Given the description of an element on the screen output the (x, y) to click on. 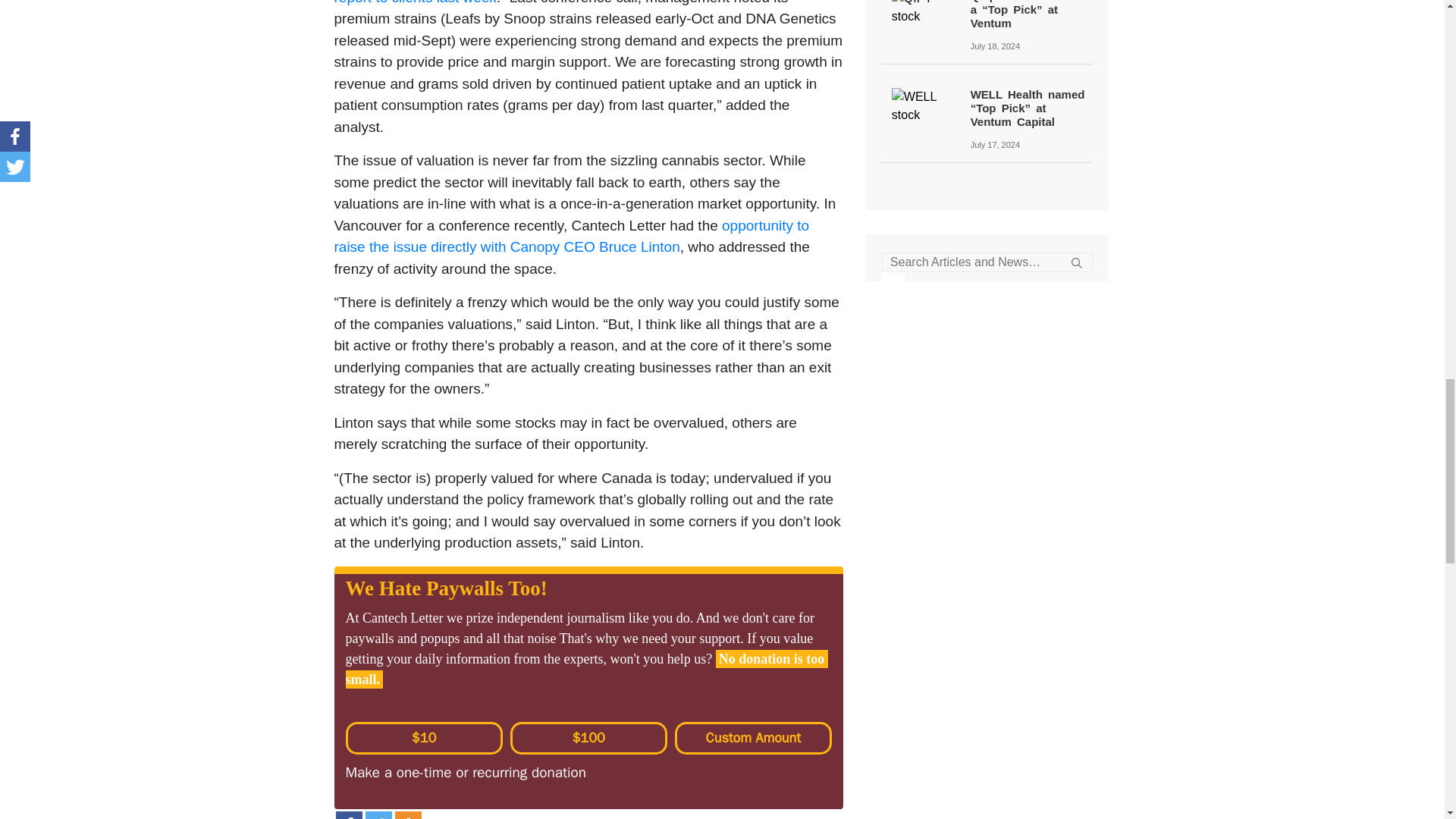
More (407, 815)
Twitter (378, 815)
Facebook (347, 815)
